Given the description of an element on the screen output the (x, y) to click on. 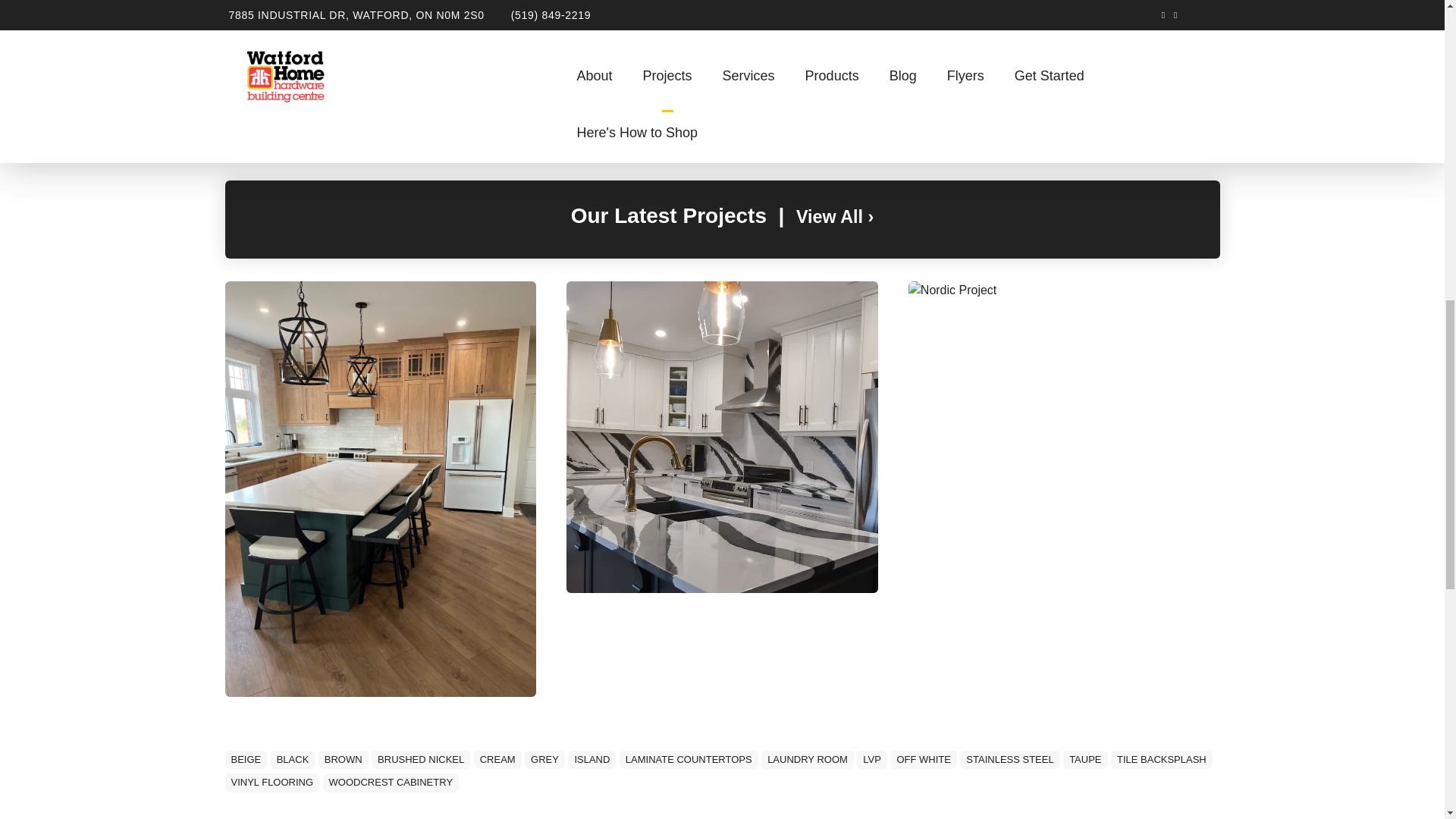
BROWN (343, 760)
BLACK (292, 760)
CREAM (497, 760)
BEIGE (245, 760)
BRUSHED NICKEL (420, 760)
GET STARTED (975, 90)
